Given the description of an element on the screen output the (x, y) to click on. 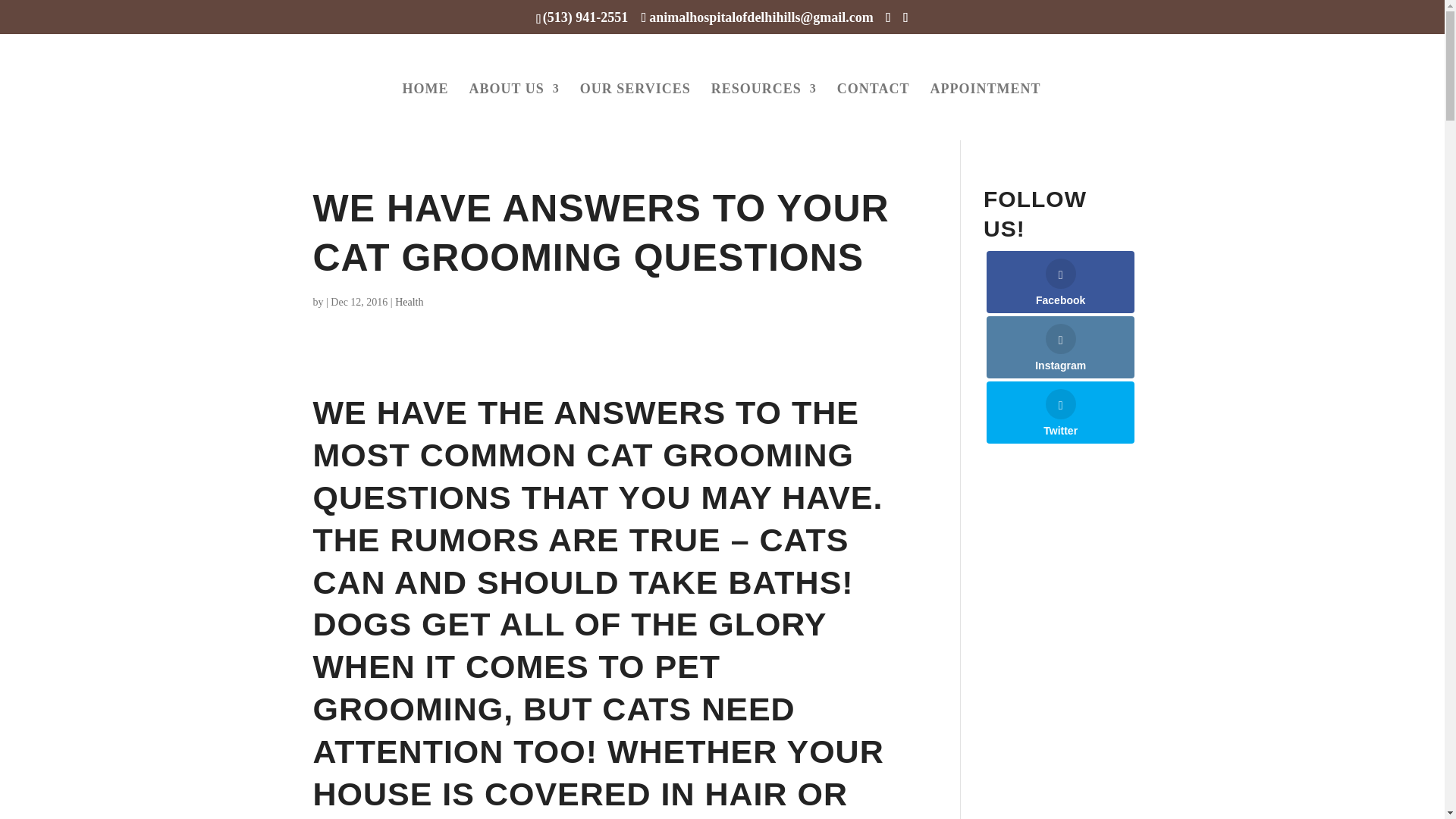
Facebook (1060, 281)
Twitter (1060, 412)
RESOURCES (763, 111)
Health (408, 301)
Instagram (1060, 347)
CONTACT (873, 111)
ABOUT US (513, 111)
APPOINTMENT (985, 111)
OUR SERVICES (634, 111)
